Given the description of an element on the screen output the (x, y) to click on. 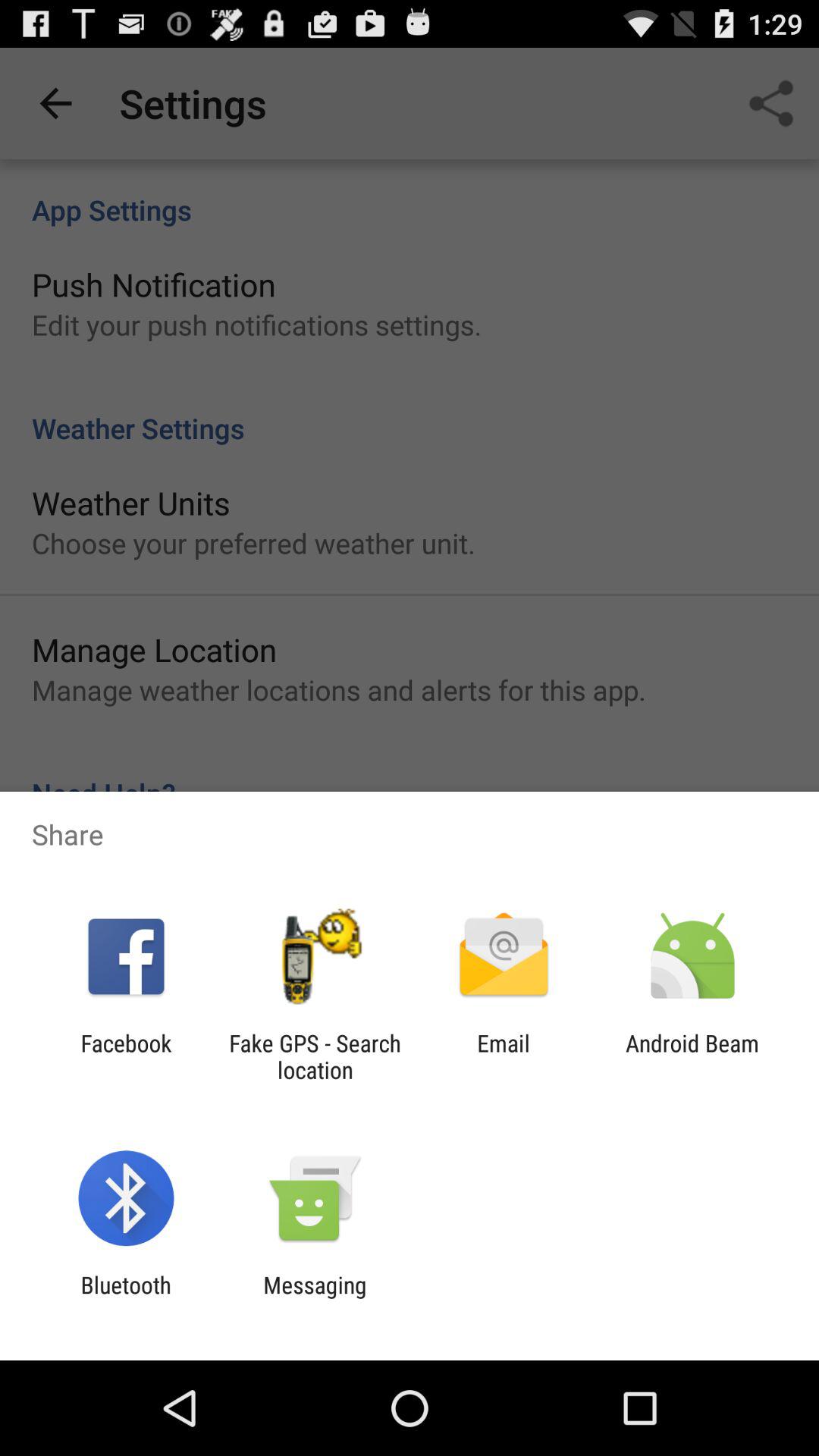
turn off the item at the bottom right corner (692, 1056)
